Given the description of an element on the screen output the (x, y) to click on. 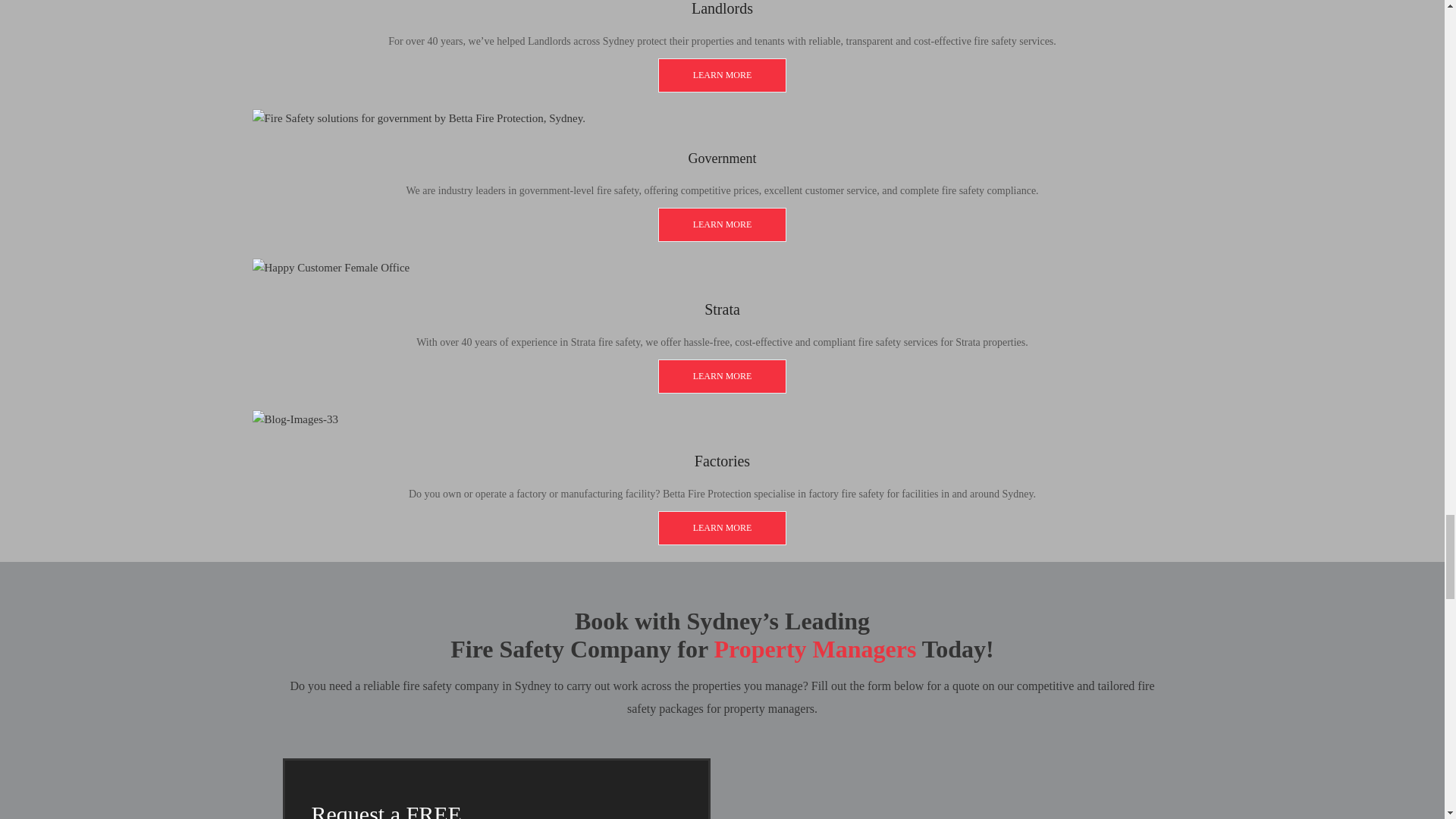
Blog-Images-33 (294, 419)
Fire Protection System Installations (722, 224)
Fire Protection System Installations (722, 75)
Fire Protection System Installations (722, 528)
Happy Customer Female Office (330, 268)
Fire Protection System Installations (722, 376)
